Given the description of an element on the screen output the (x, y) to click on. 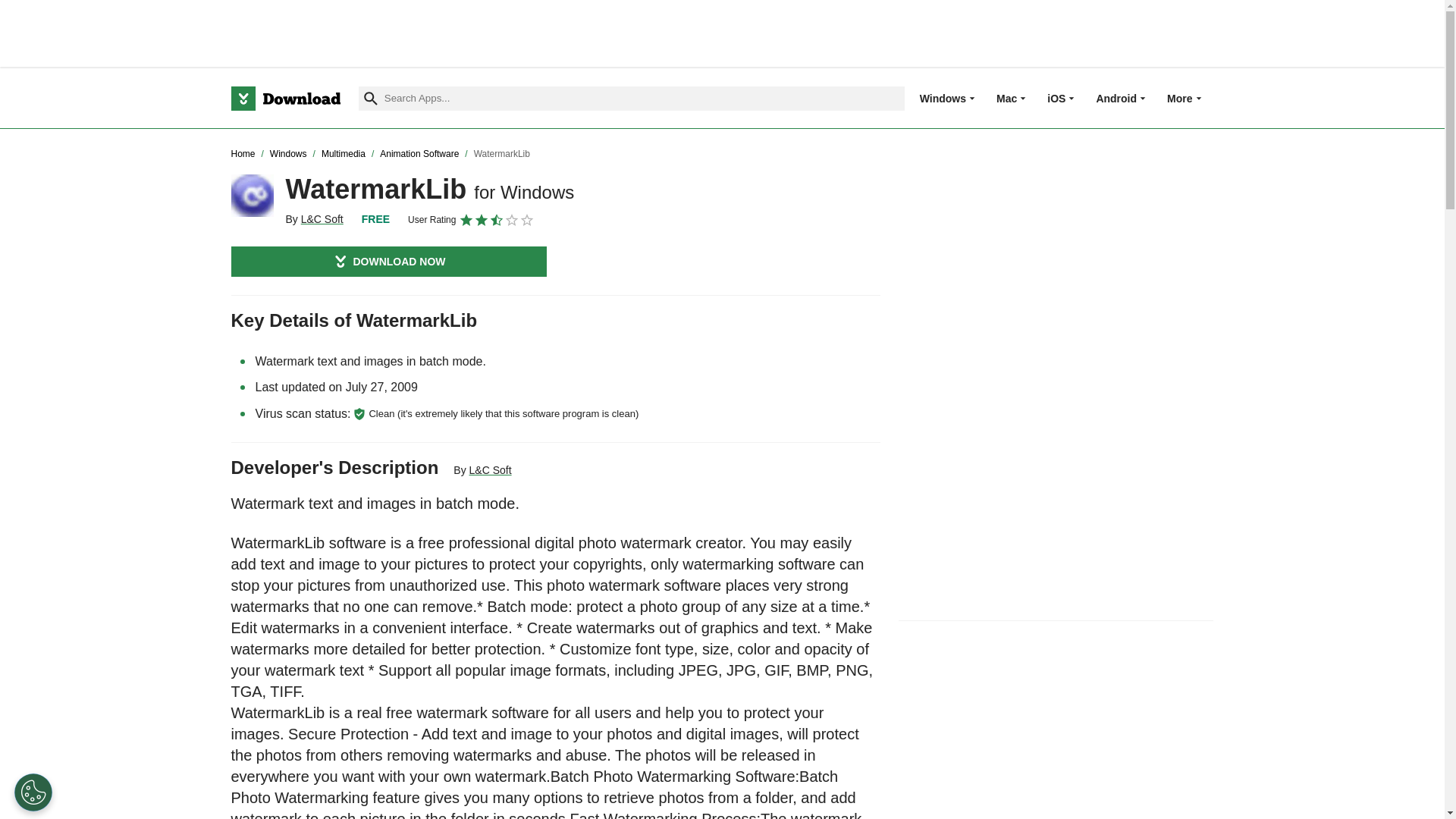
Windows (943, 97)
WatermarkLib for Windows (251, 195)
Mac (1005, 97)
